Given the description of an element on the screen output the (x, y) to click on. 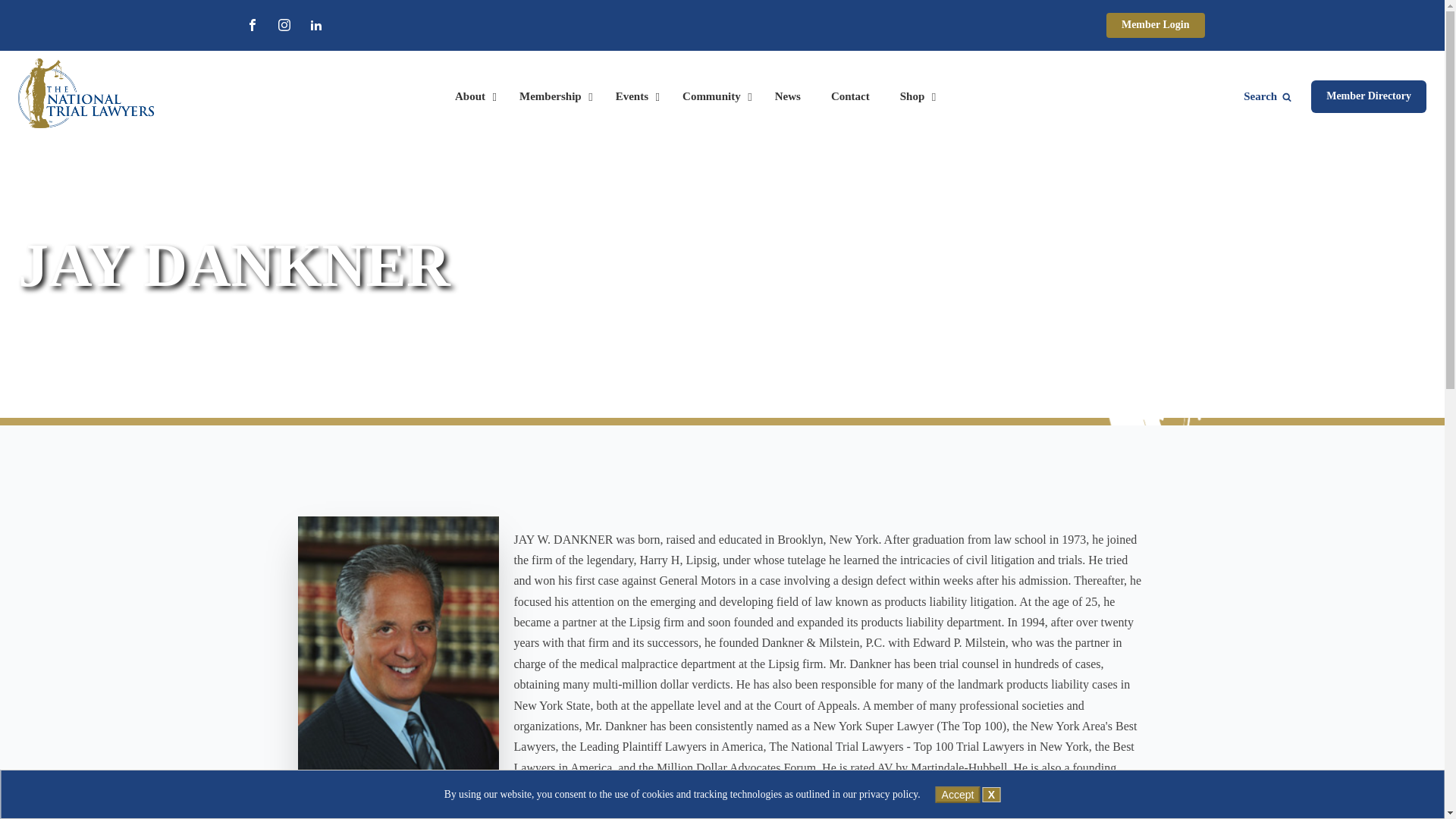
Membership (551, 96)
X (991, 783)
Accept (957, 782)
About (471, 96)
Member Login (1155, 25)
